Given the description of an element on the screen output the (x, y) to click on. 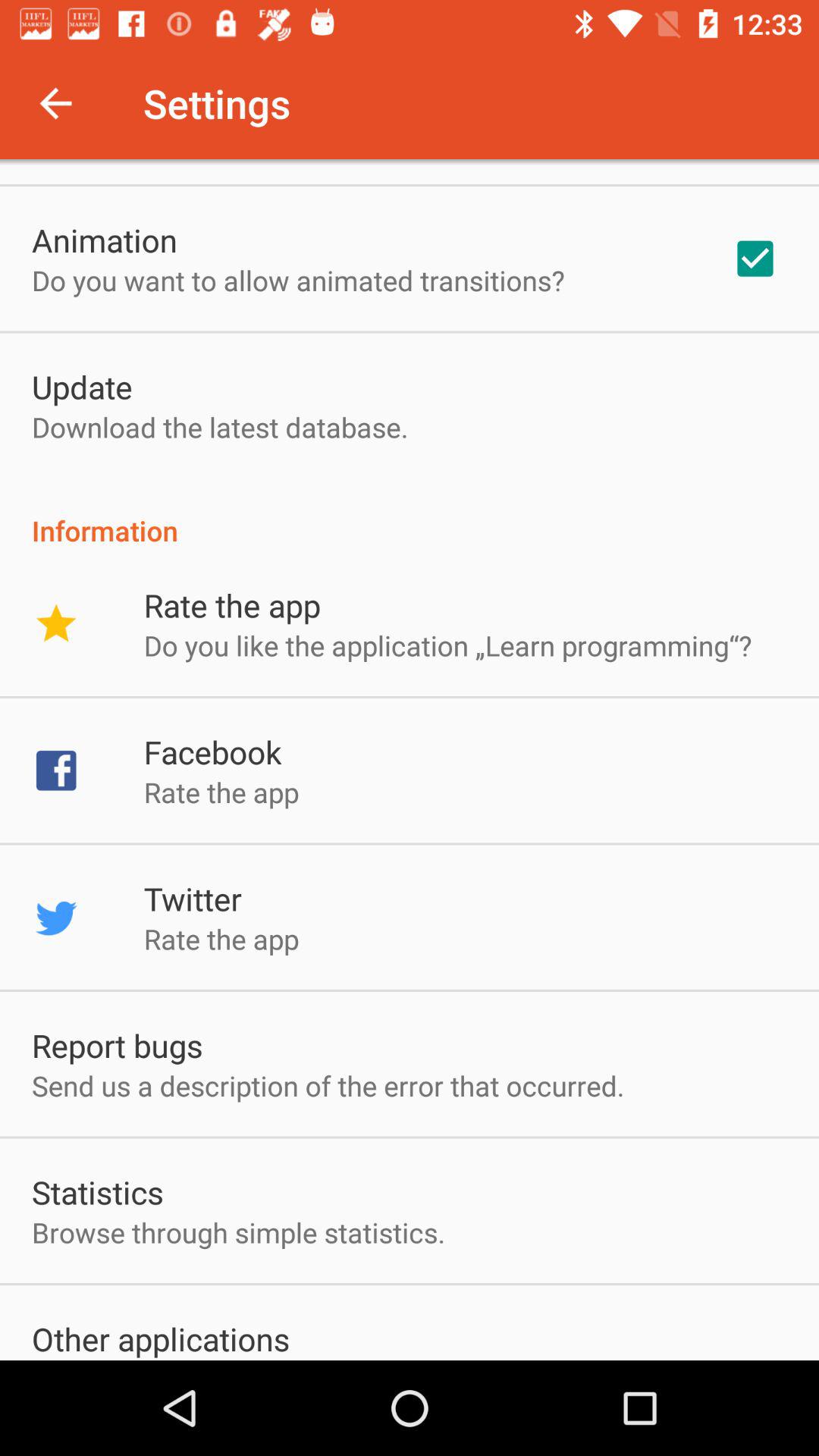
launch the information item (409, 514)
